Given the description of an element on the screen output the (x, y) to click on. 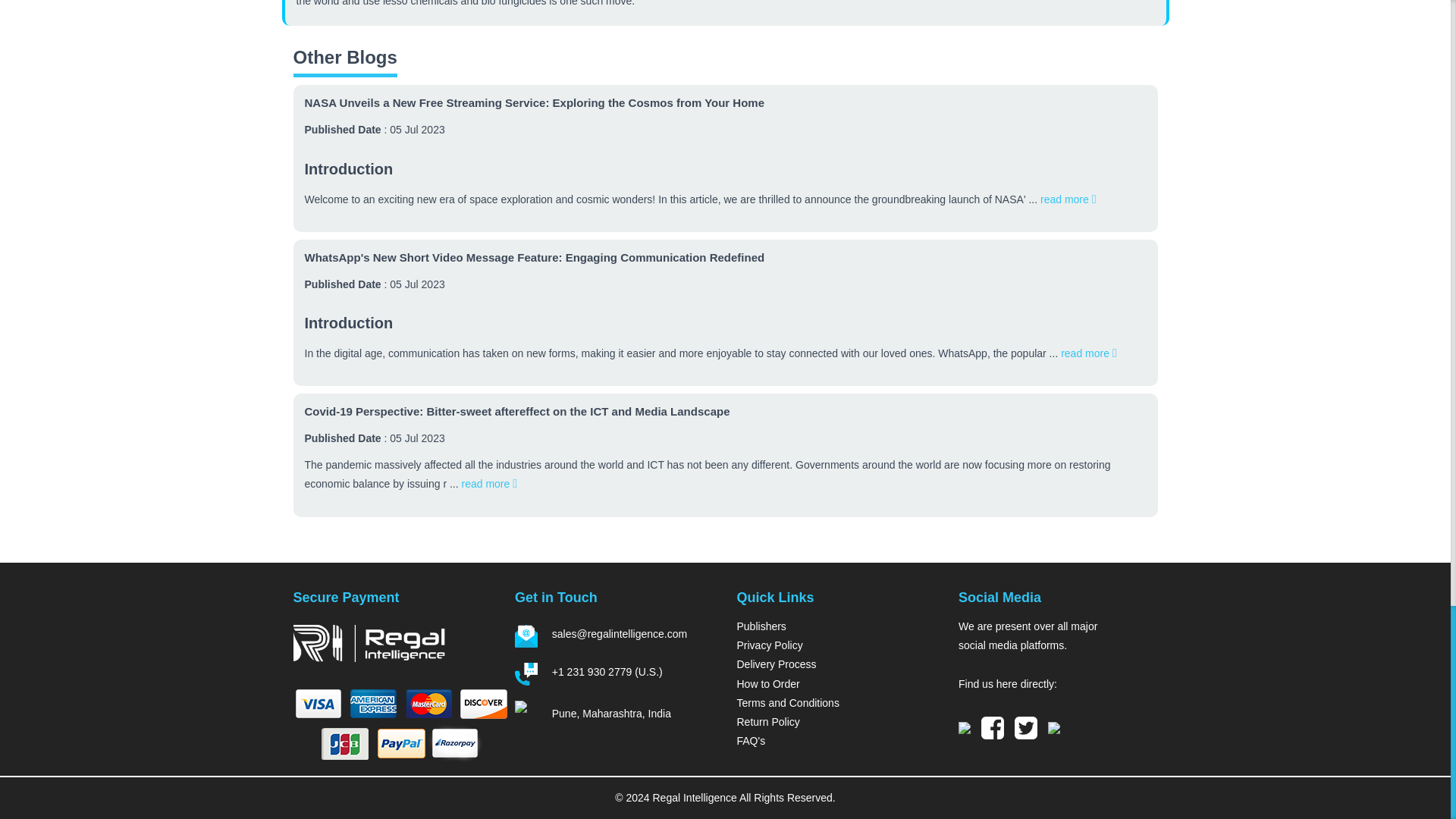
Publishers (836, 626)
read more (1068, 199)
Terms and Conditions (836, 702)
How to Order (836, 683)
read more (488, 483)
Delivery Process (836, 664)
Privacy Policy (836, 645)
read more (1088, 353)
Return Policy (836, 722)
FAQ's (836, 741)
